Given the description of an element on the screen output the (x, y) to click on. 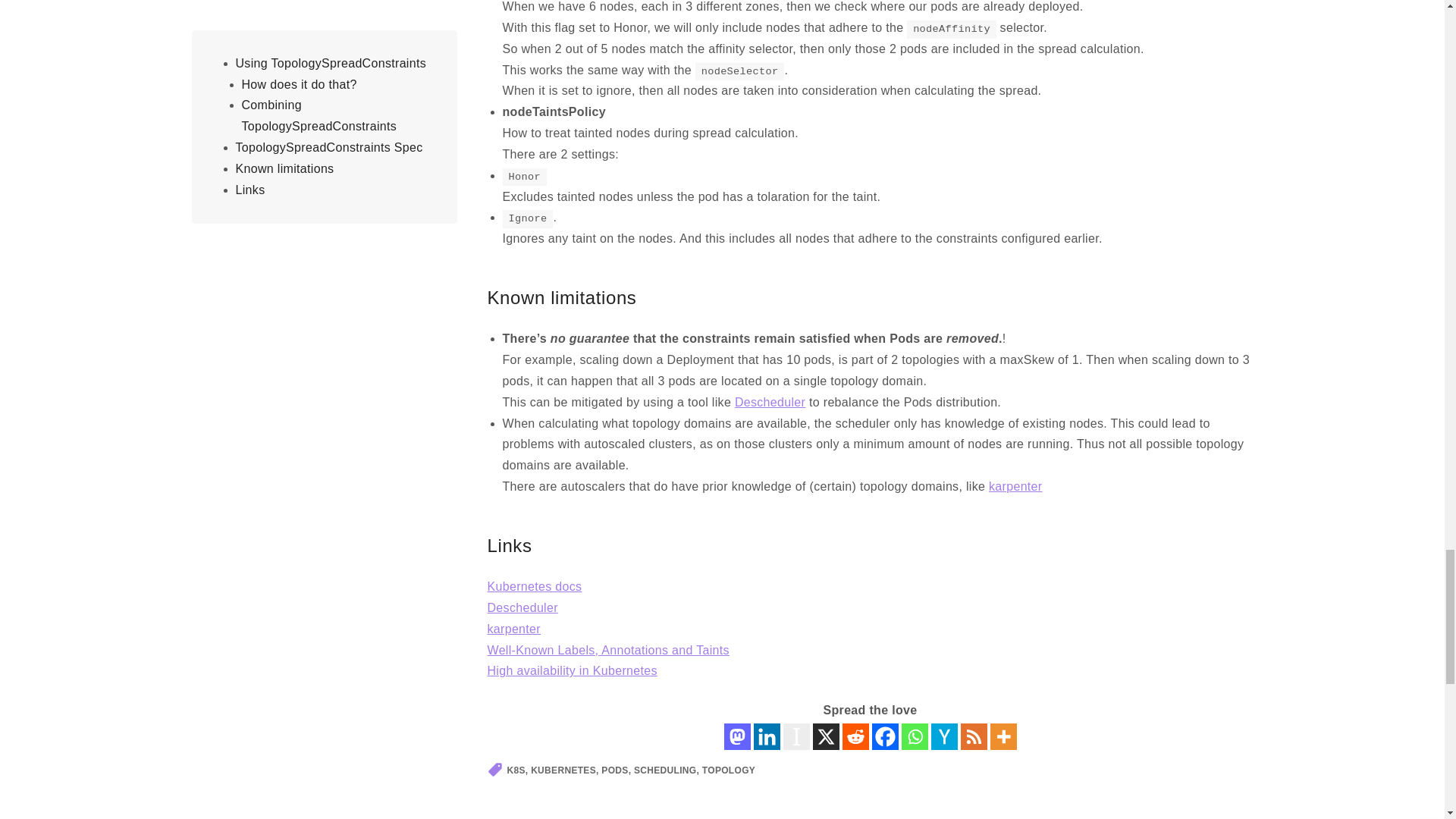
X (826, 736)
High availability in Kubernetes (571, 670)
K8S (515, 769)
Whatsapp (914, 736)
karpenter (513, 628)
Kubernetes docs (533, 585)
karpenter (1015, 486)
PODS (614, 769)
Well-Known Labels, Annotations and Taints (607, 649)
Descheduler (521, 607)
Facebook (885, 736)
Descheduler (770, 401)
More (1003, 736)
Linkedin (767, 736)
Mastodon (736, 736)
